Given the description of an element on the screen output the (x, y) to click on. 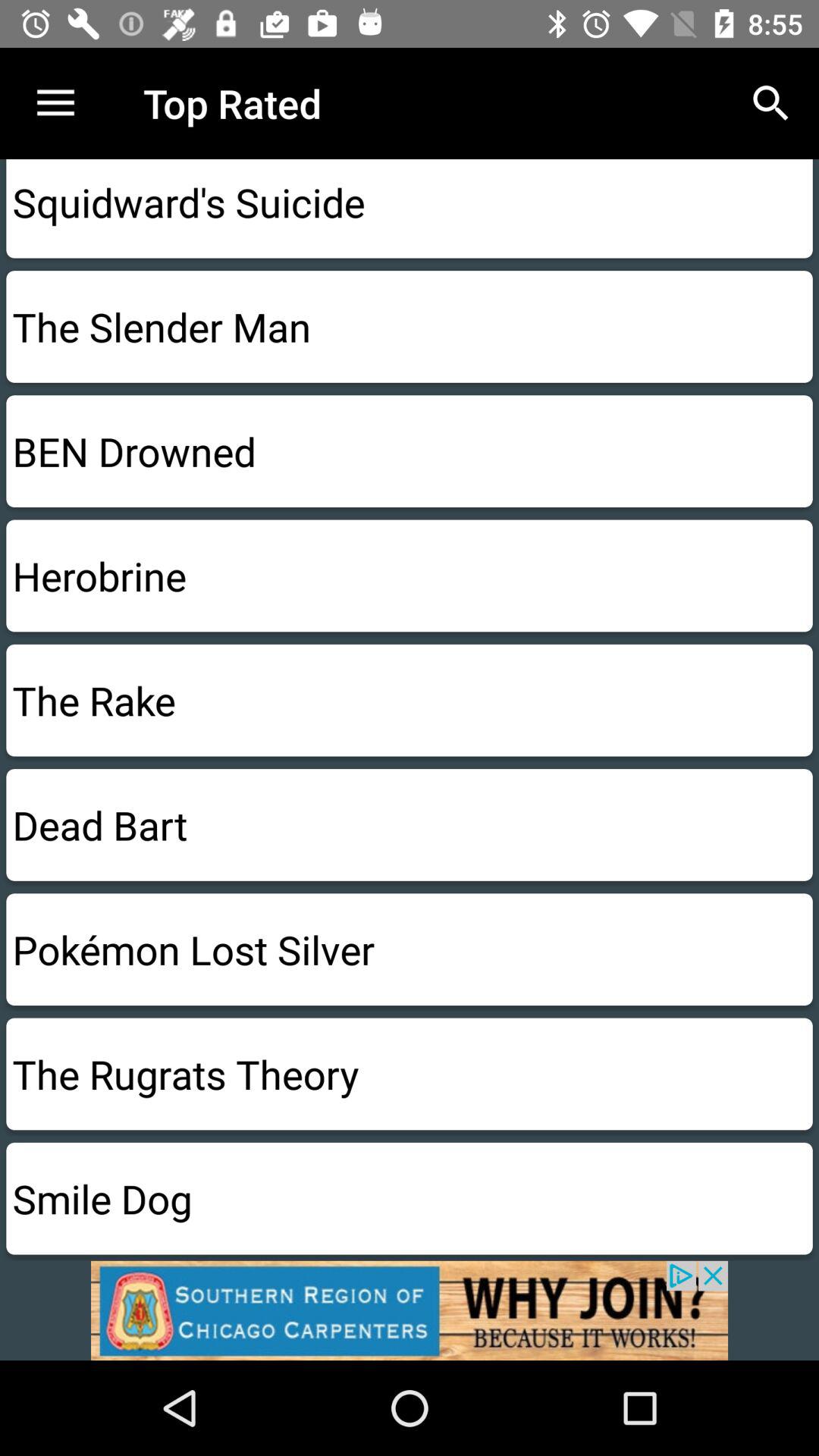
advertising pop up banner (409, 1310)
